Given the description of an element on the screen output the (x, y) to click on. 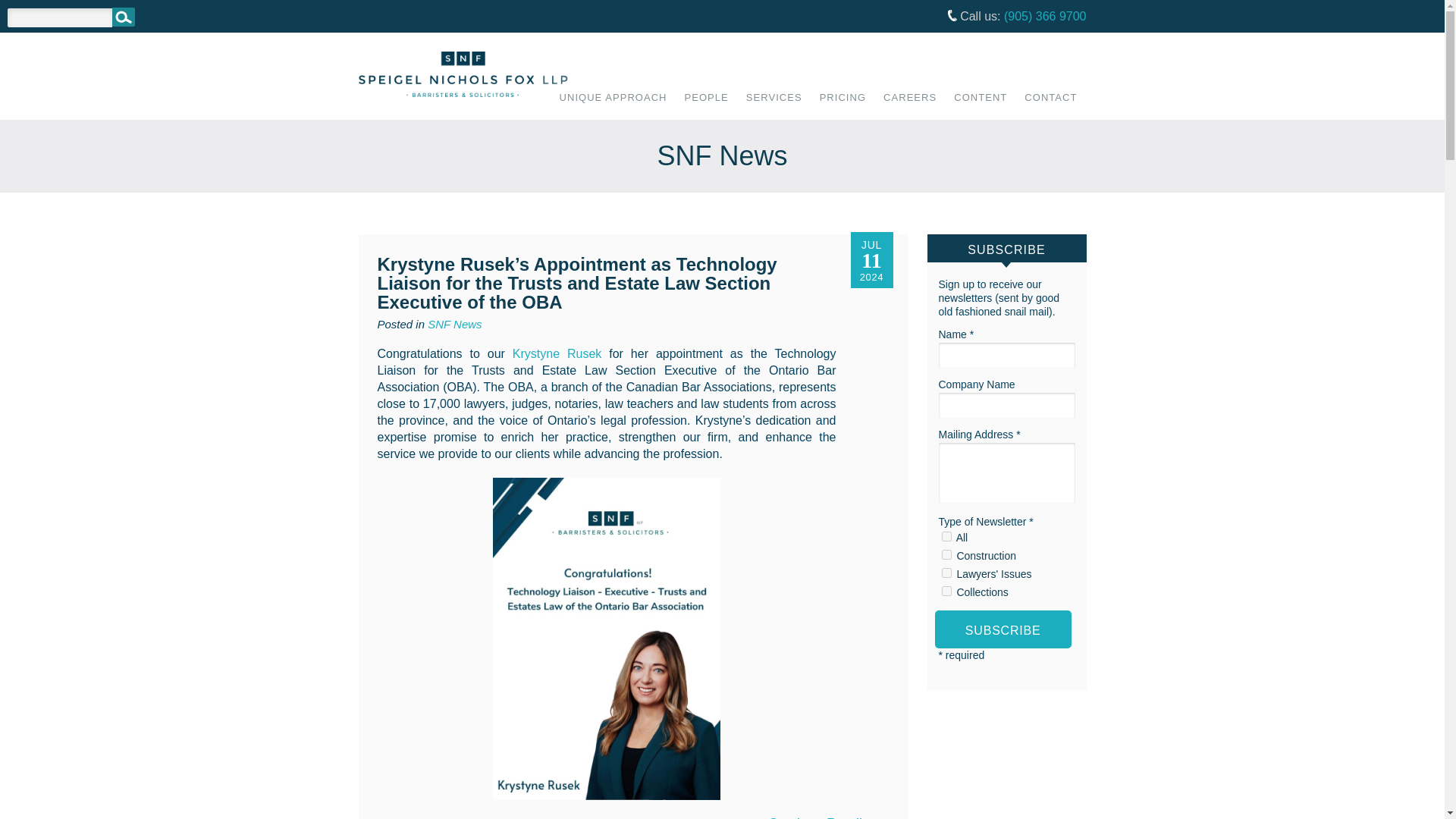
CONTENT (979, 105)
PRICING (842, 105)
Speigel Nichols Fox LLP (462, 75)
SNF News (454, 323)
Construction (947, 554)
Lawyers' Issues (947, 573)
CONTACT (1050, 105)
CAREERS (909, 105)
Search (123, 16)
Krystyne Rusek (557, 353)
Subscribe (1002, 629)
UNIQUE APPROACH (613, 105)
PEOPLE (706, 105)
SERVICES (774, 105)
Search (123, 16)
